Given the description of an element on the screen output the (x, y) to click on. 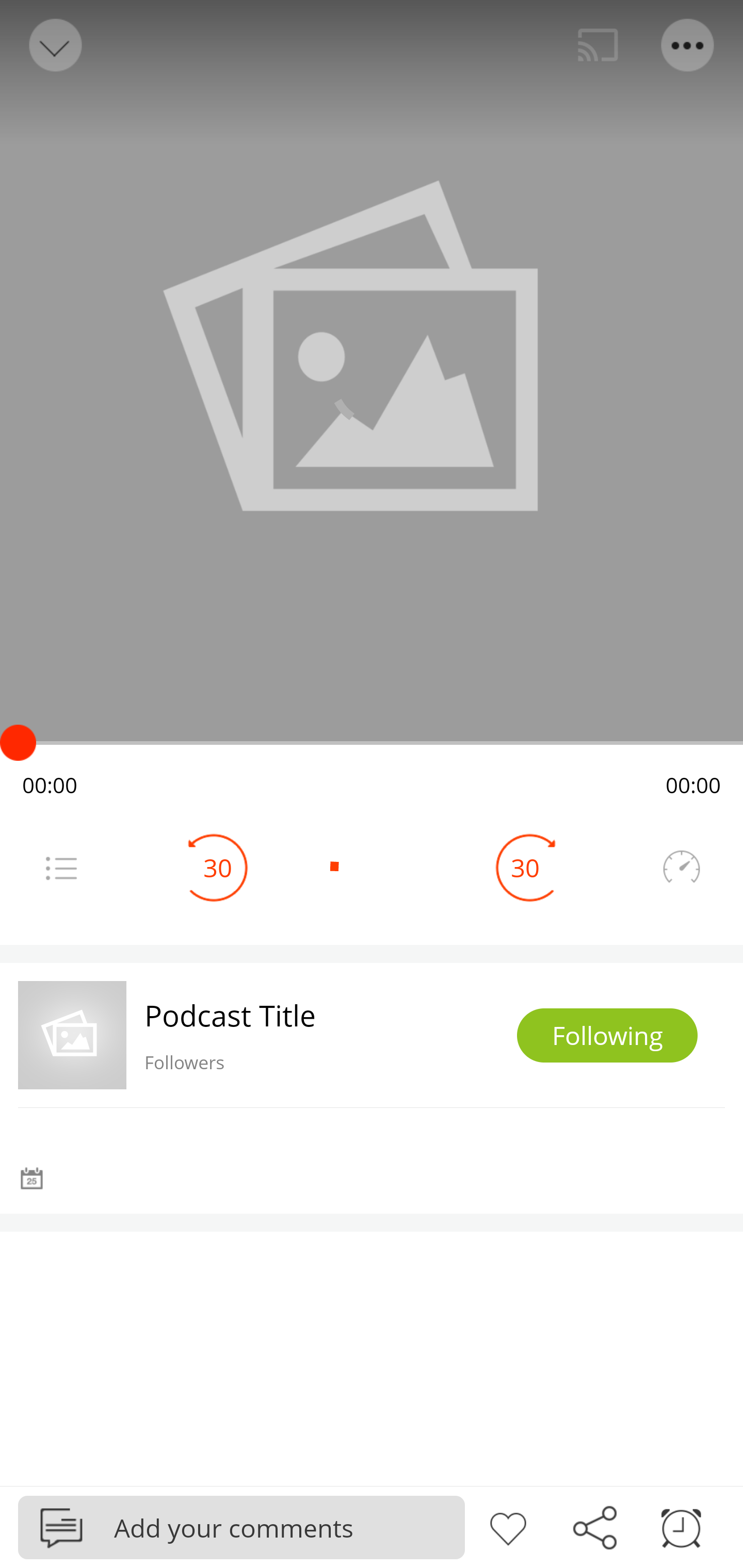
Back (53, 45)
Cast. Disconnected (597, 45)
Menu (688, 45)
30 Seek Backward (217, 867)
30 Seek Forward (525, 867)
Menu (60, 867)
Speedometer (681, 867)
Podcast Title Followers Following (371, 1034)
Following (607, 1035)
Like (508, 1526)
Share (594, 1526)
Sleep timer (681, 1526)
Podbean Add your comments (241, 1526)
